Given the description of an element on the screen output the (x, y) to click on. 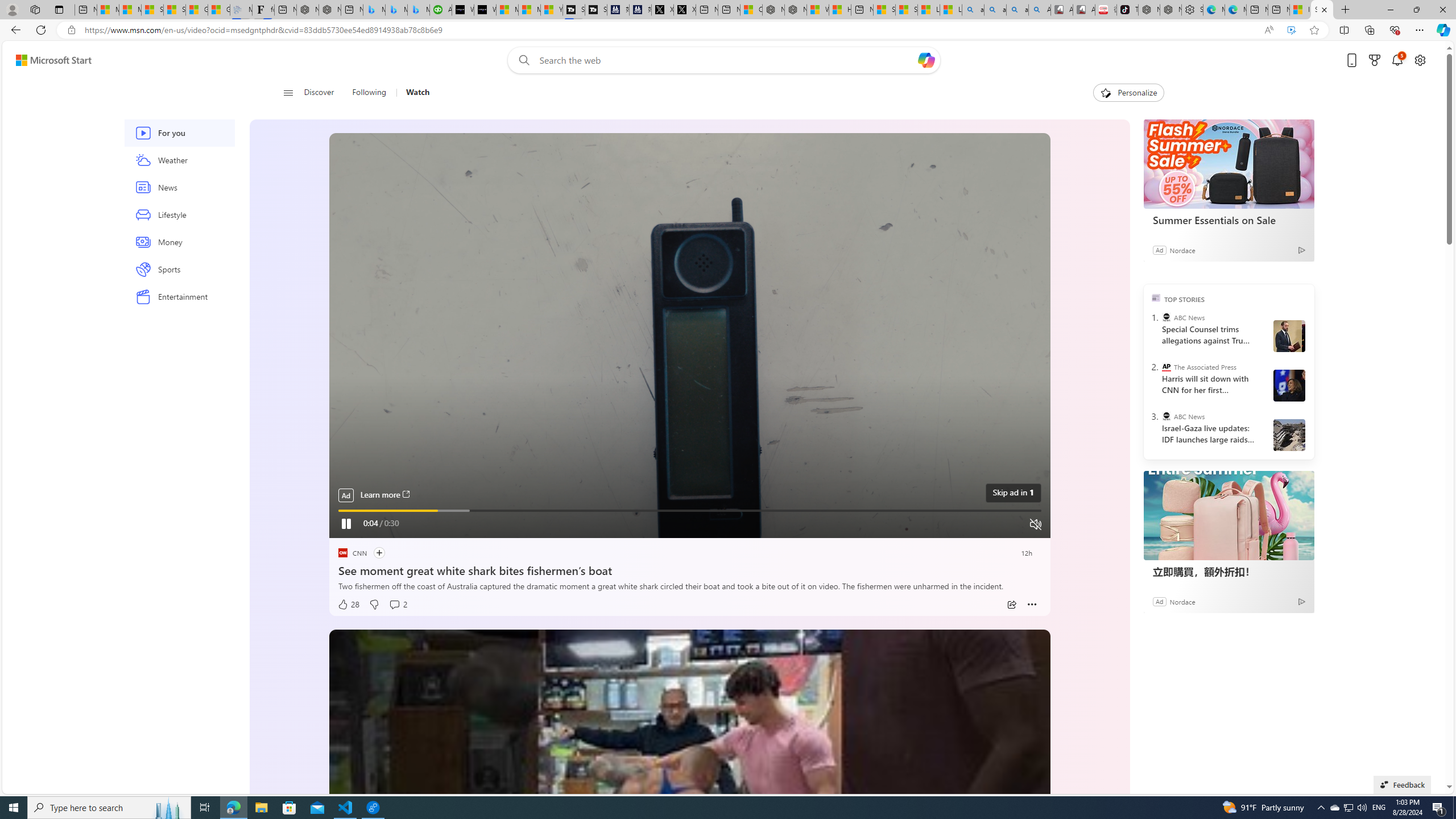
Personalize (1128, 92)
View comments 2 Comment (398, 604)
